Given the description of an element on the screen output the (x, y) to click on. 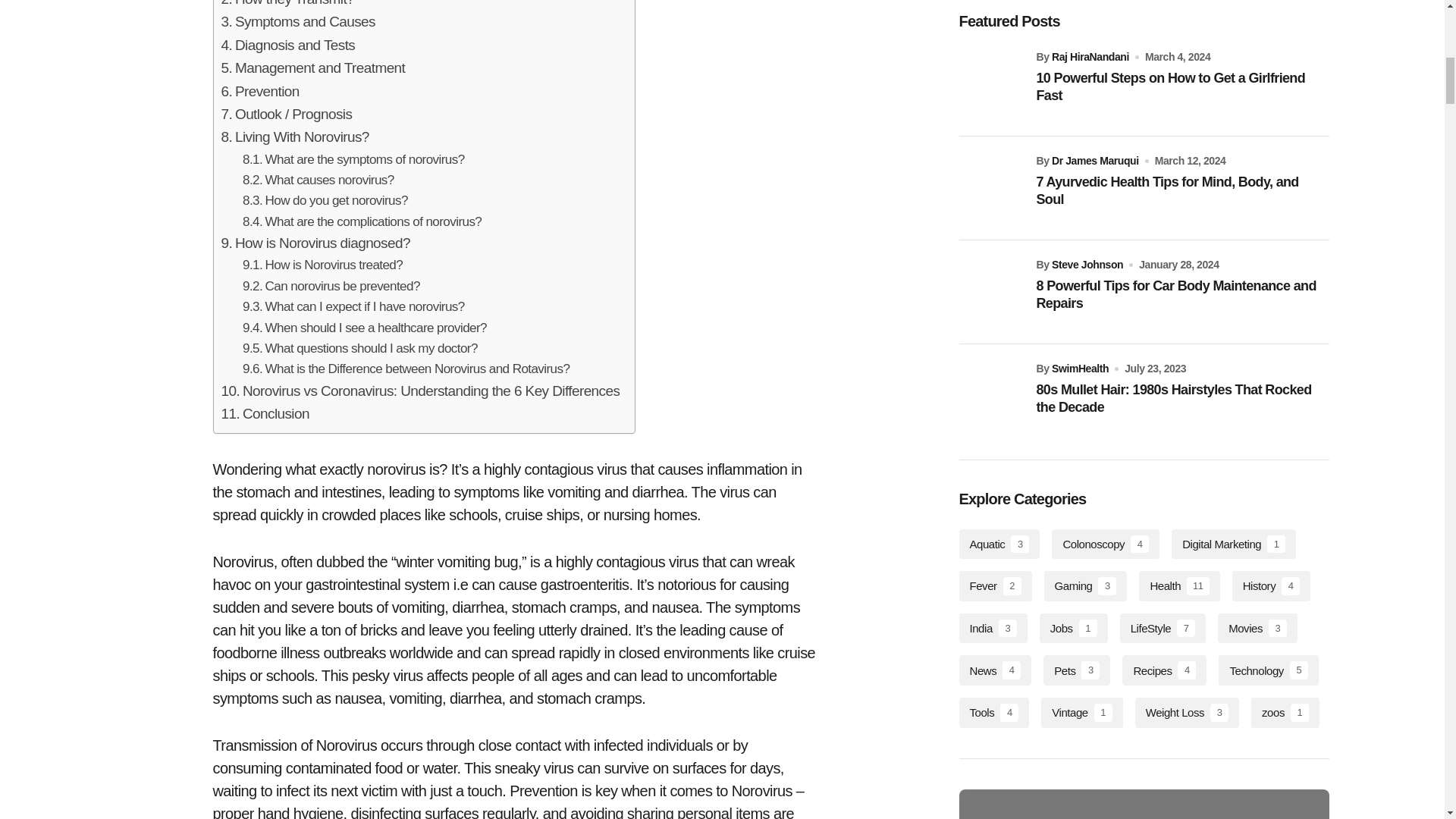
What are the symptoms of norovirus? (353, 159)
How is Norovirus treated? (323, 264)
What causes norovirus? (318, 179)
What is the Difference between Norovirus and Rotavirus? (406, 368)
What are the complications of norovirus? (362, 221)
When should I see a healthcare provider? (364, 327)
Prevention (260, 91)
Symptoms and Causes (298, 21)
Diagnosis and Tests (288, 45)
How do you get norovirus? (325, 200)
